Given the description of an element on the screen output the (x, y) to click on. 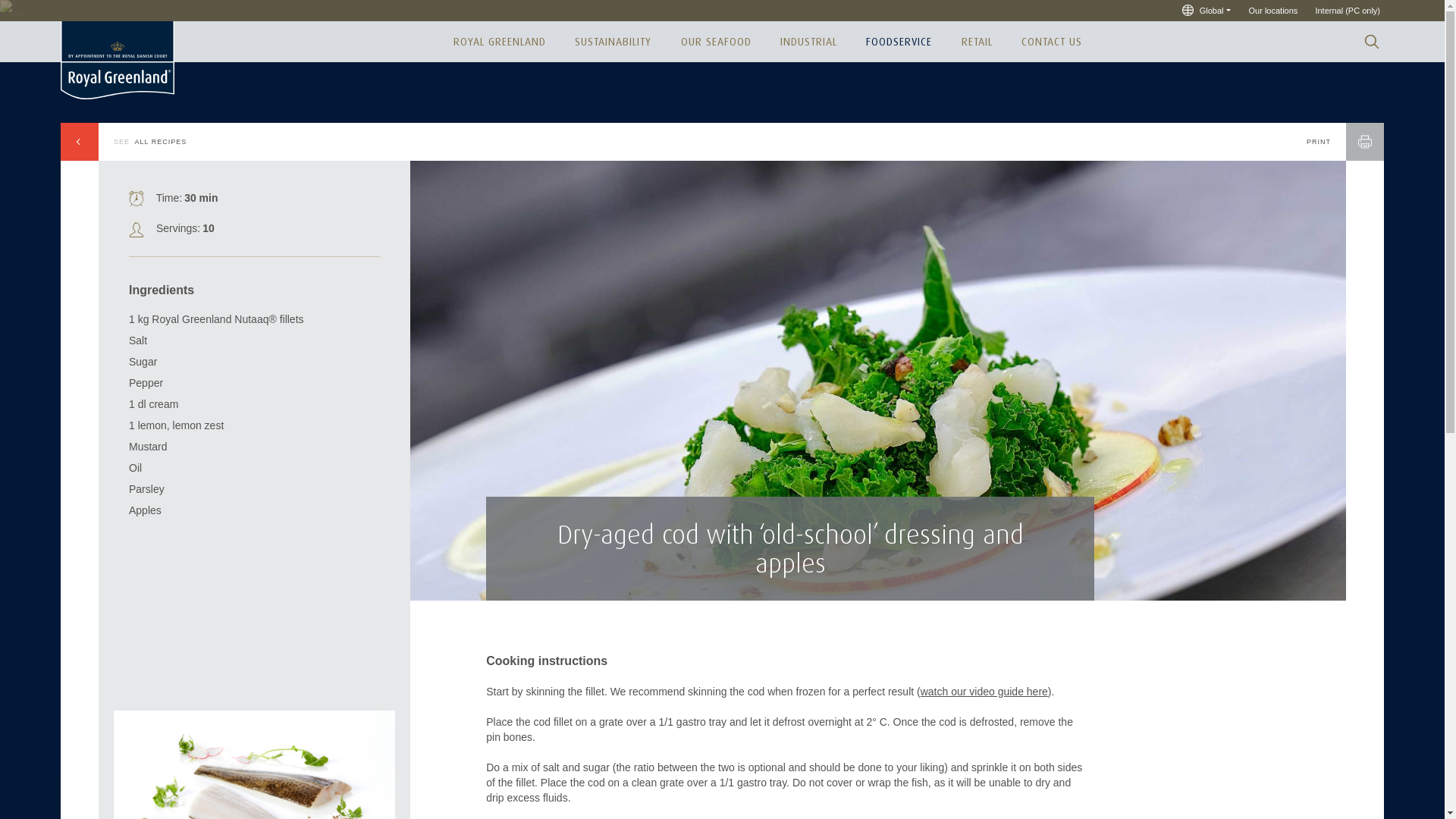
ROYAL GREENLAND (499, 41)
Our locations (1272, 10)
Global (1205, 10)
